Given the description of an element on the screen output the (x, y) to click on. 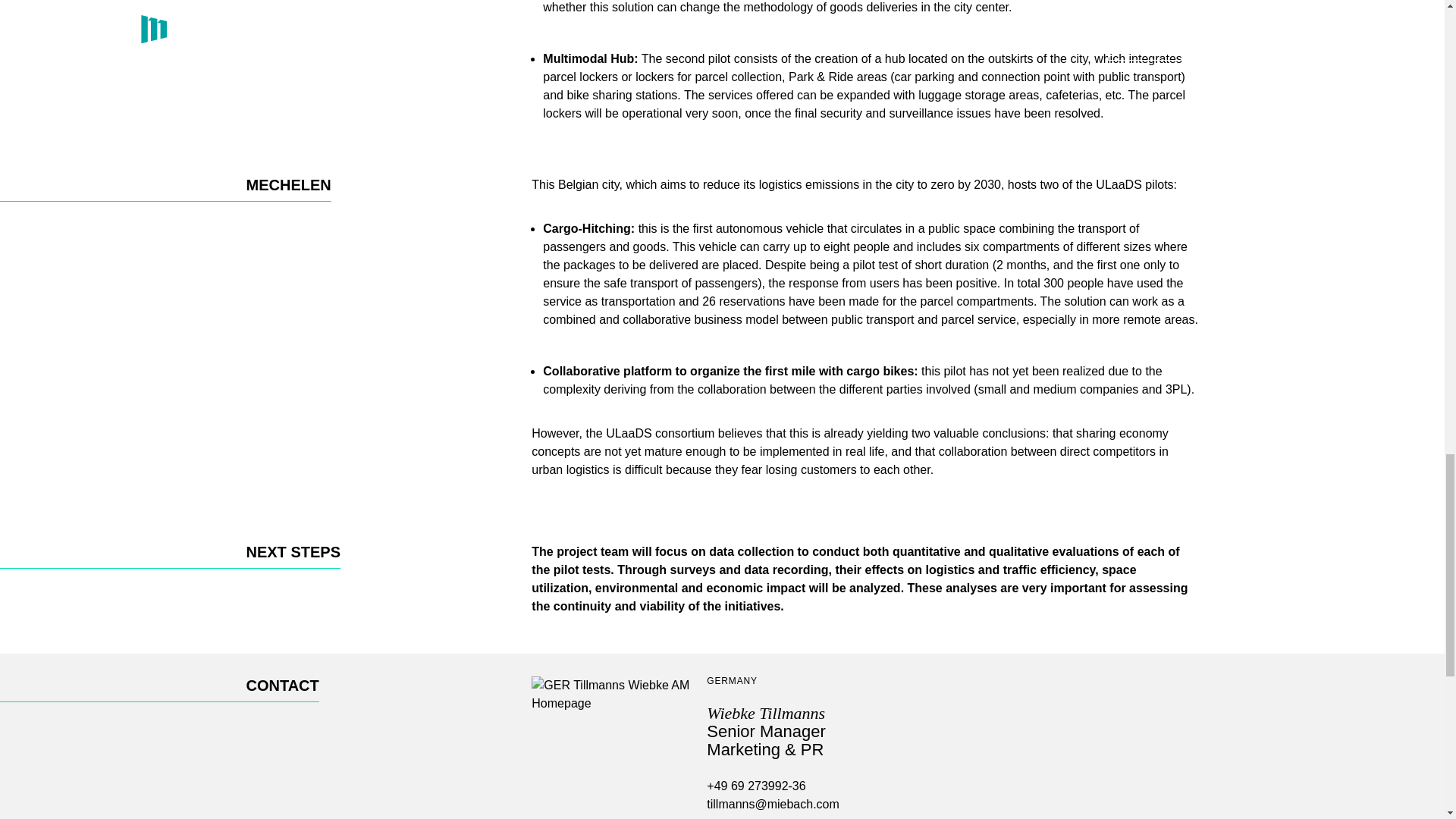
GER Tillmanns Wiebke AM Homepage (611, 747)
